Given the description of an element on the screen output the (x, y) to click on. 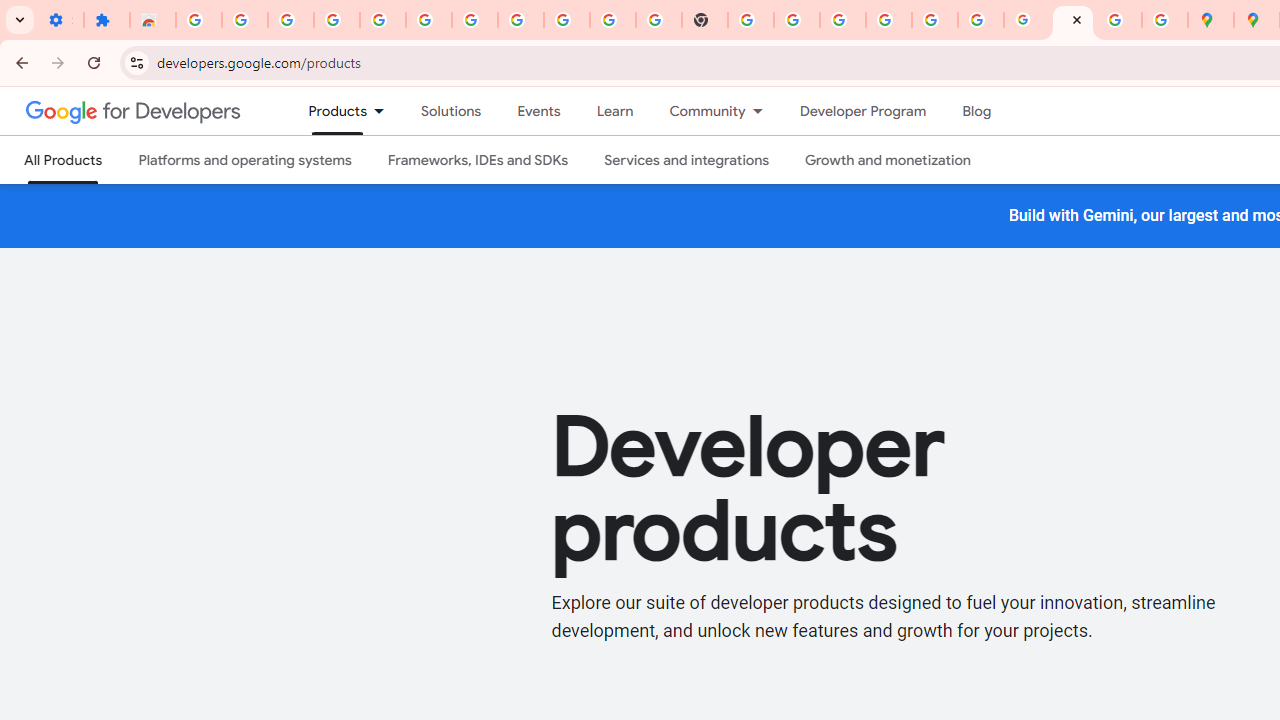
Growth and monetization (888, 160)
https://scholar.google.com/ (751, 20)
Services and integrations (687, 160)
Google for Developers (133, 110)
Community (698, 111)
Learn how to find your photos - Google Photos Help (382, 20)
Sign in - Google Accounts (474, 20)
Extensions (107, 20)
Dropdown menu for Community (763, 111)
